Given the description of an element on the screen output the (x, y) to click on. 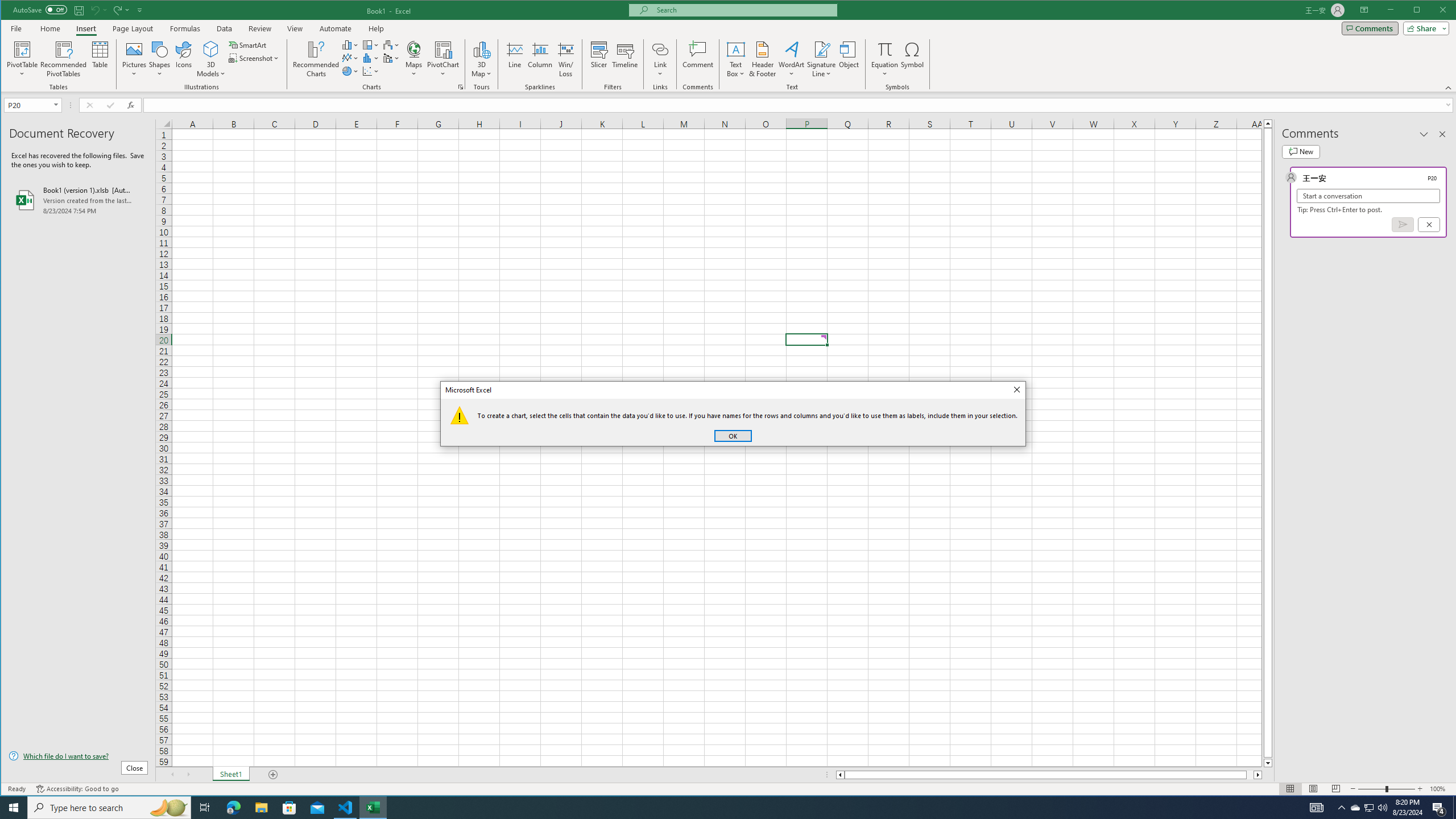
Comment (697, 59)
Equation (884, 48)
Show desktop (1454, 807)
Data (224, 28)
Help (376, 28)
Comments (1369, 28)
Close (1016, 389)
Scroll Right (188, 774)
3D Models (211, 59)
Page Break Preview (1335, 788)
Insert Scatter (X, Y) or Bubble Chart (371, 70)
Insert Column or Bar Chart (350, 44)
Line down (1267, 763)
Column left (839, 774)
Insert Statistic Chart (371, 57)
